Given the description of an element on the screen output the (x, y) to click on. 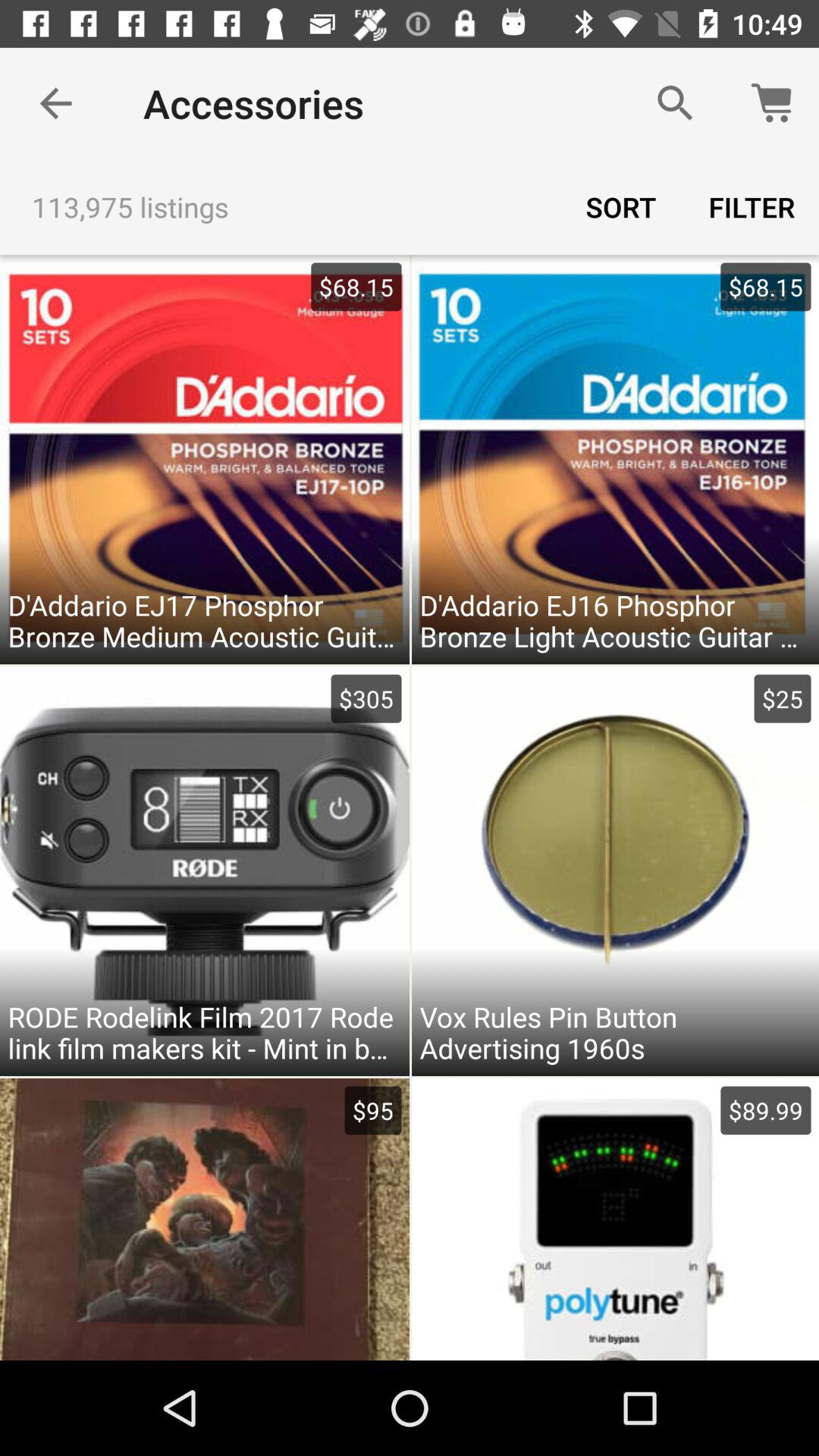
turn on the sort (620, 206)
